Given the description of an element on the screen output the (x, y) to click on. 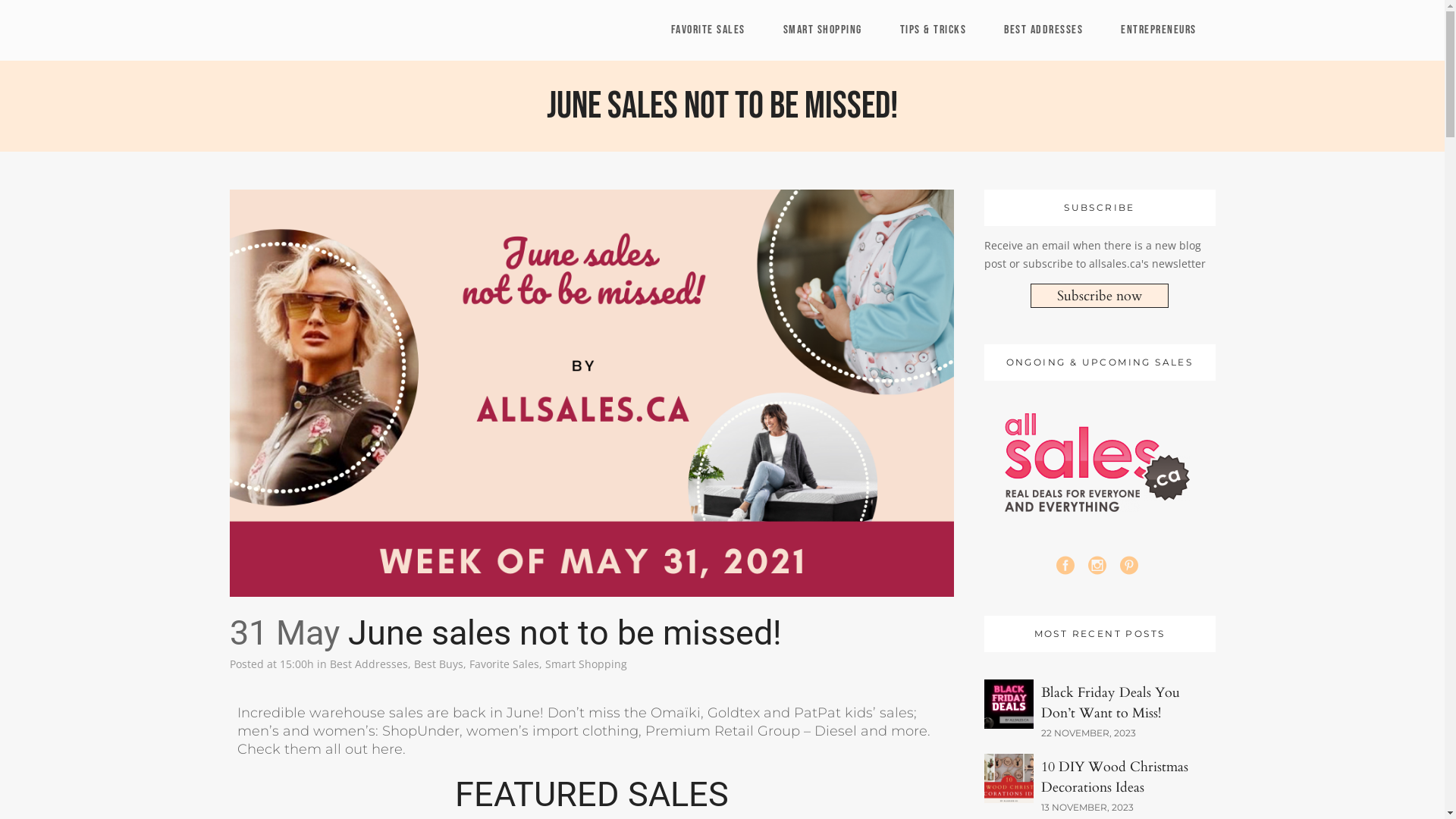
TIPS & TRICKS Element type: text (933, 30)
Best Addresses Element type: text (368, 663)
Subscribe now Element type: text (1099, 295)
Smart Shopping Element type: text (585, 663)
ENTREPRENEURS Element type: text (1158, 30)
Favorite Sales Element type: text (503, 663)
10 DIY Wood Christmas Decorations Ideas Element type: text (1113, 777)
Best Buys Element type: text (438, 663)
BEST ADDRESSES Element type: text (1043, 30)
FAVORITE SALES Element type: text (708, 30)
SMART SHOPPING Element type: text (822, 30)
